Given the description of an element on the screen output the (x, y) to click on. 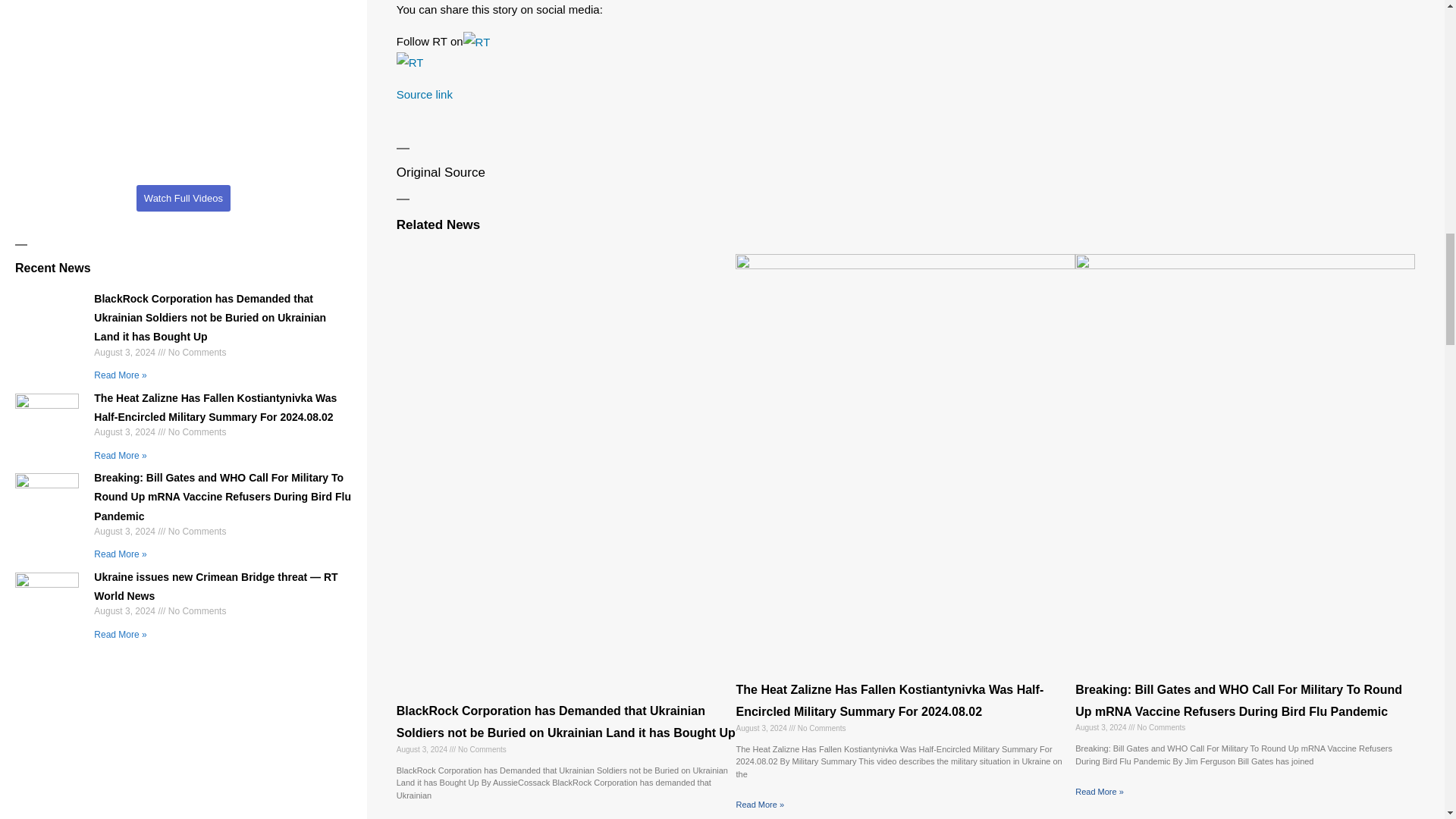
Watch Full Videos (183, 197)
